Given the description of an element on the screen output the (x, y) to click on. 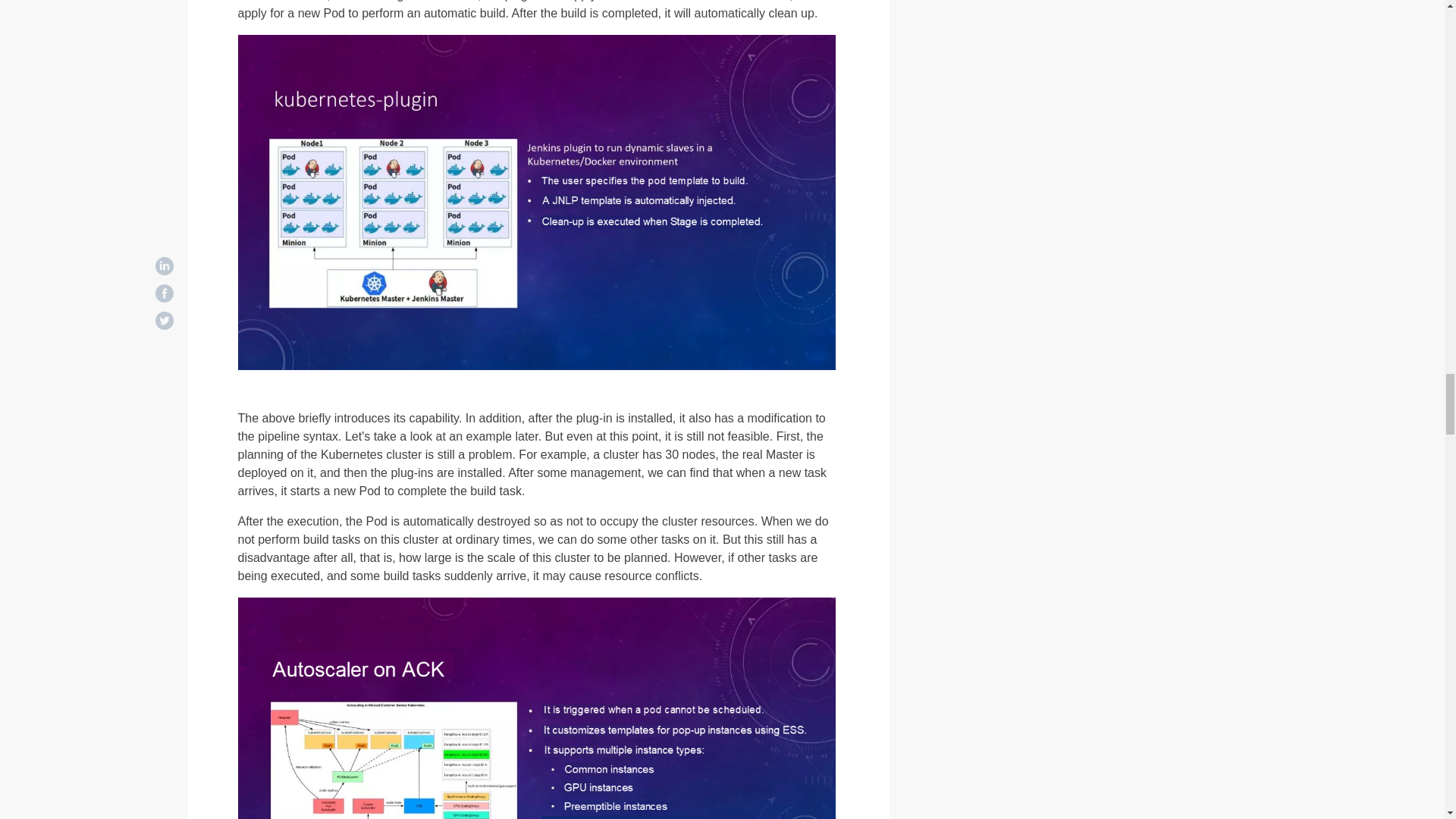
6 (536, 708)
